Given the description of an element on the screen output the (x, y) to click on. 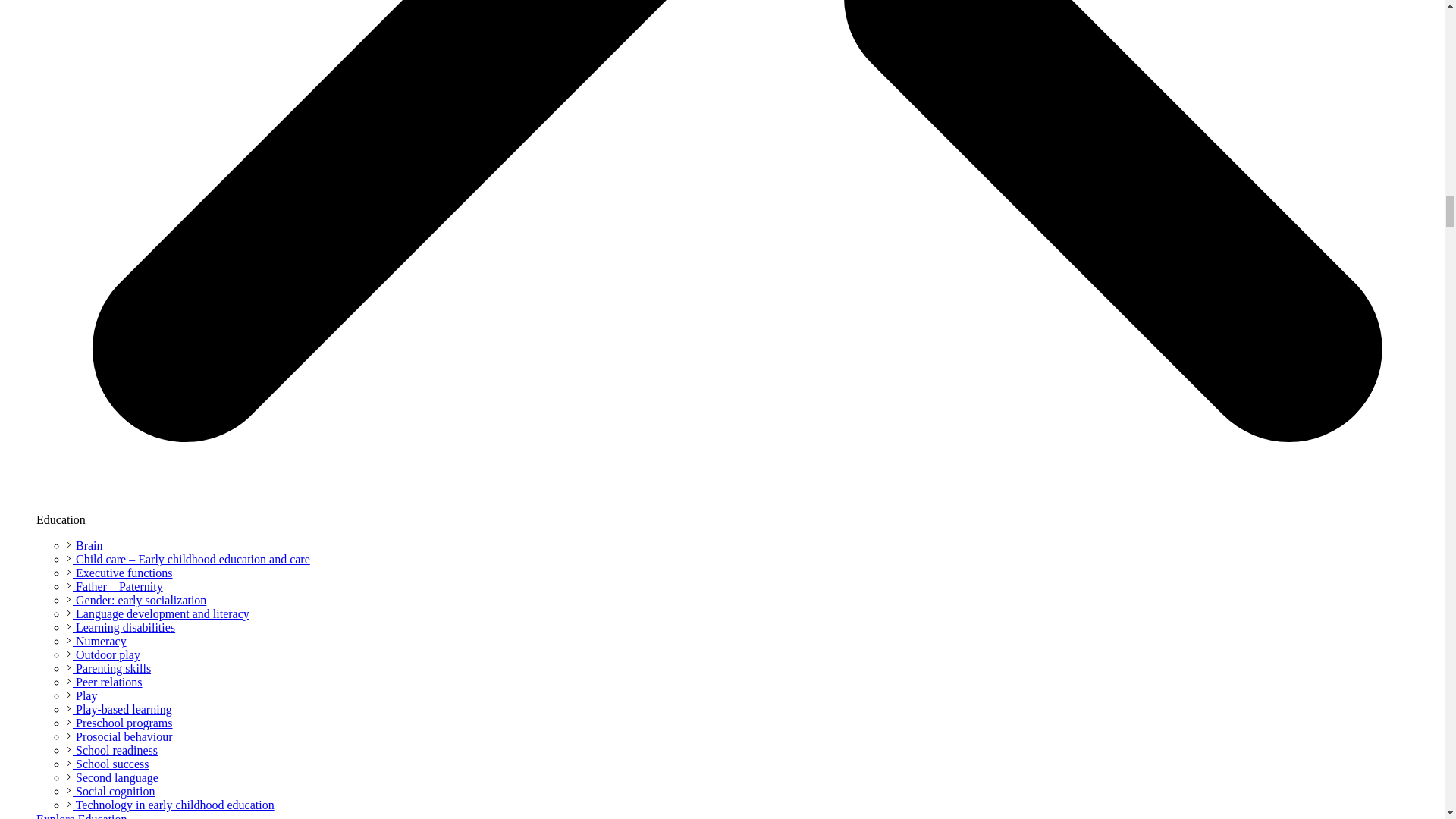
Executive functions (119, 572)
Brain (84, 545)
